Given the description of an element on the screen output the (x, y) to click on. 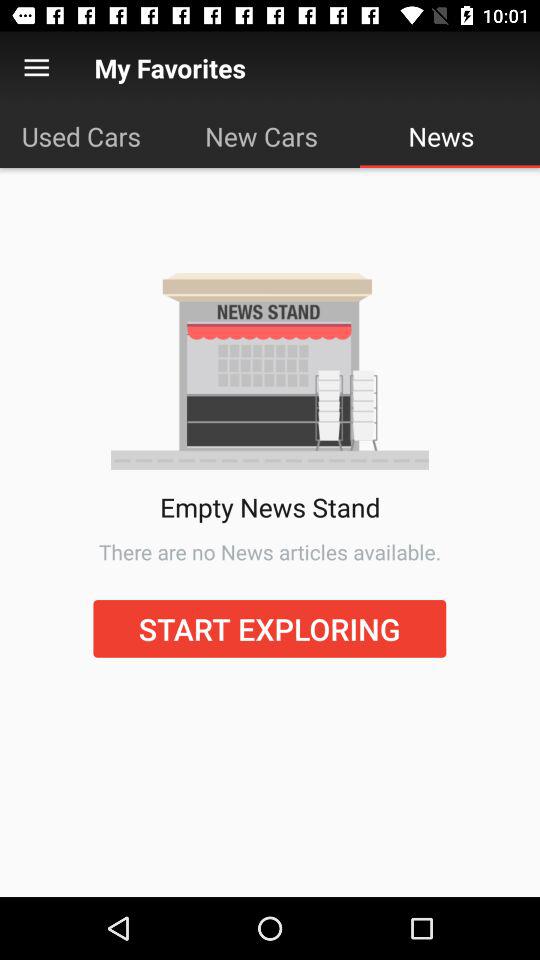
press item to the left of the my favorites icon (36, 68)
